Given the description of an element on the screen output the (x, y) to click on. 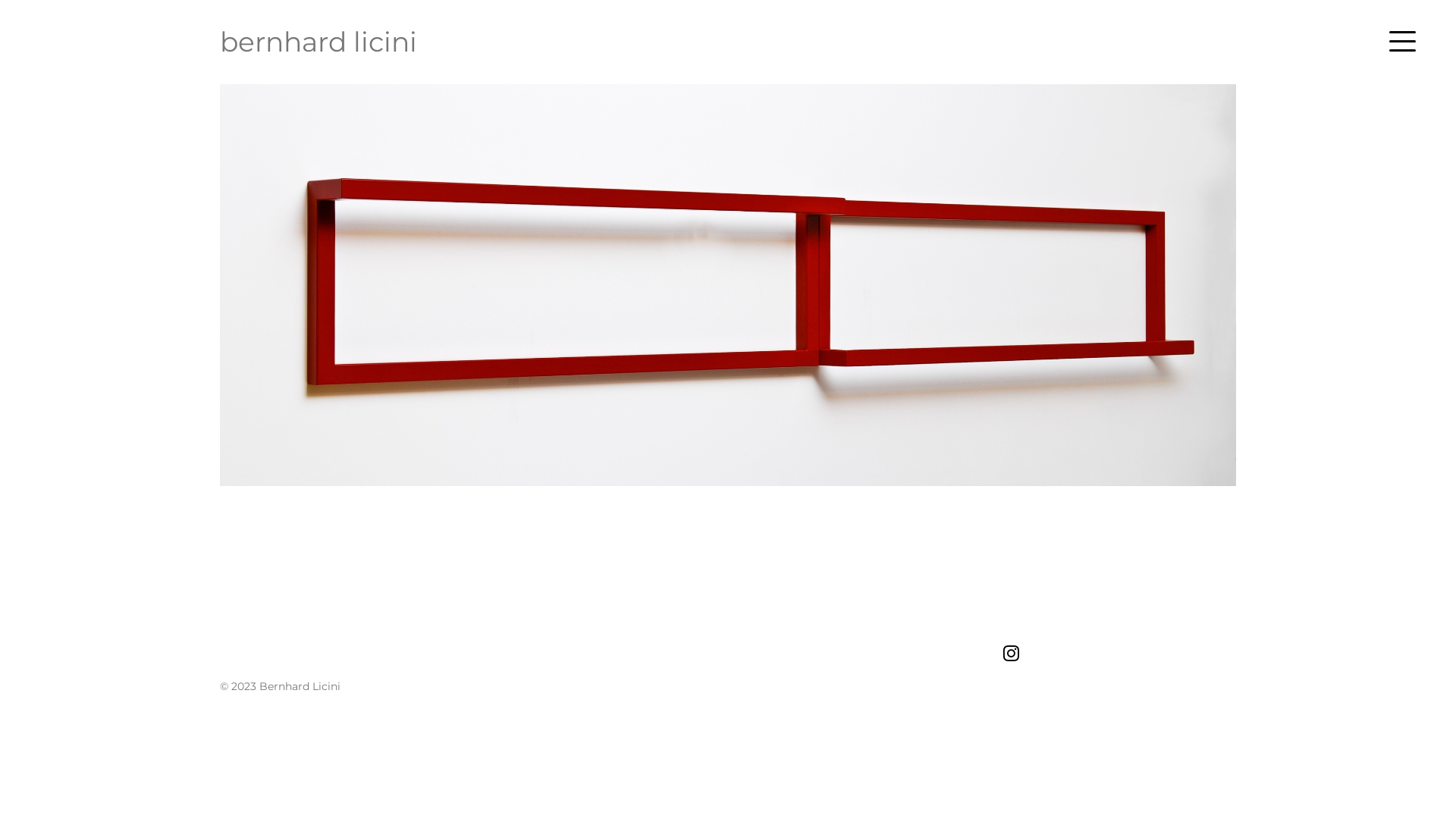
Instagram Element type: hover (1010, 652)
Open navigation Element type: text (1402, 40)
